Given the description of an element on the screen output the (x, y) to click on. 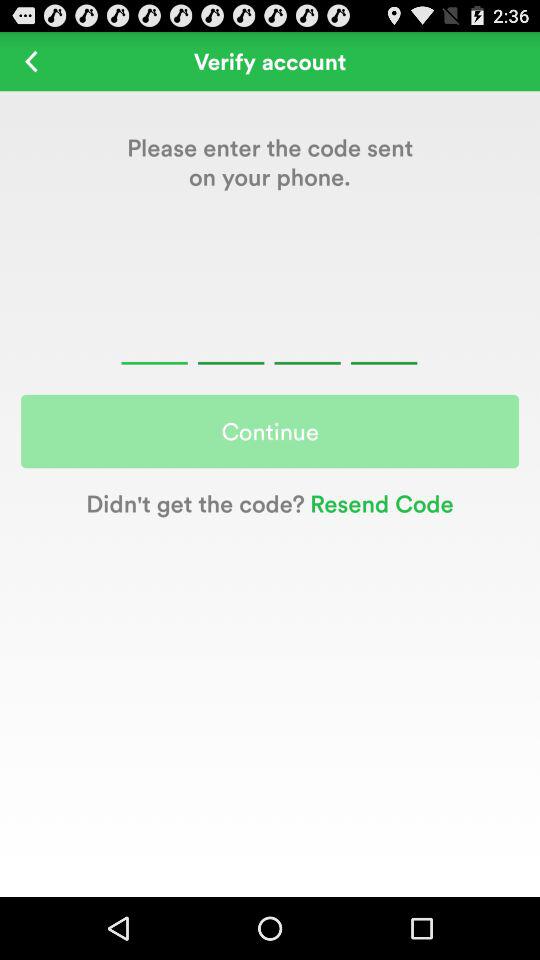
press the continue (270, 431)
